Given the description of an element on the screen output the (x, y) to click on. 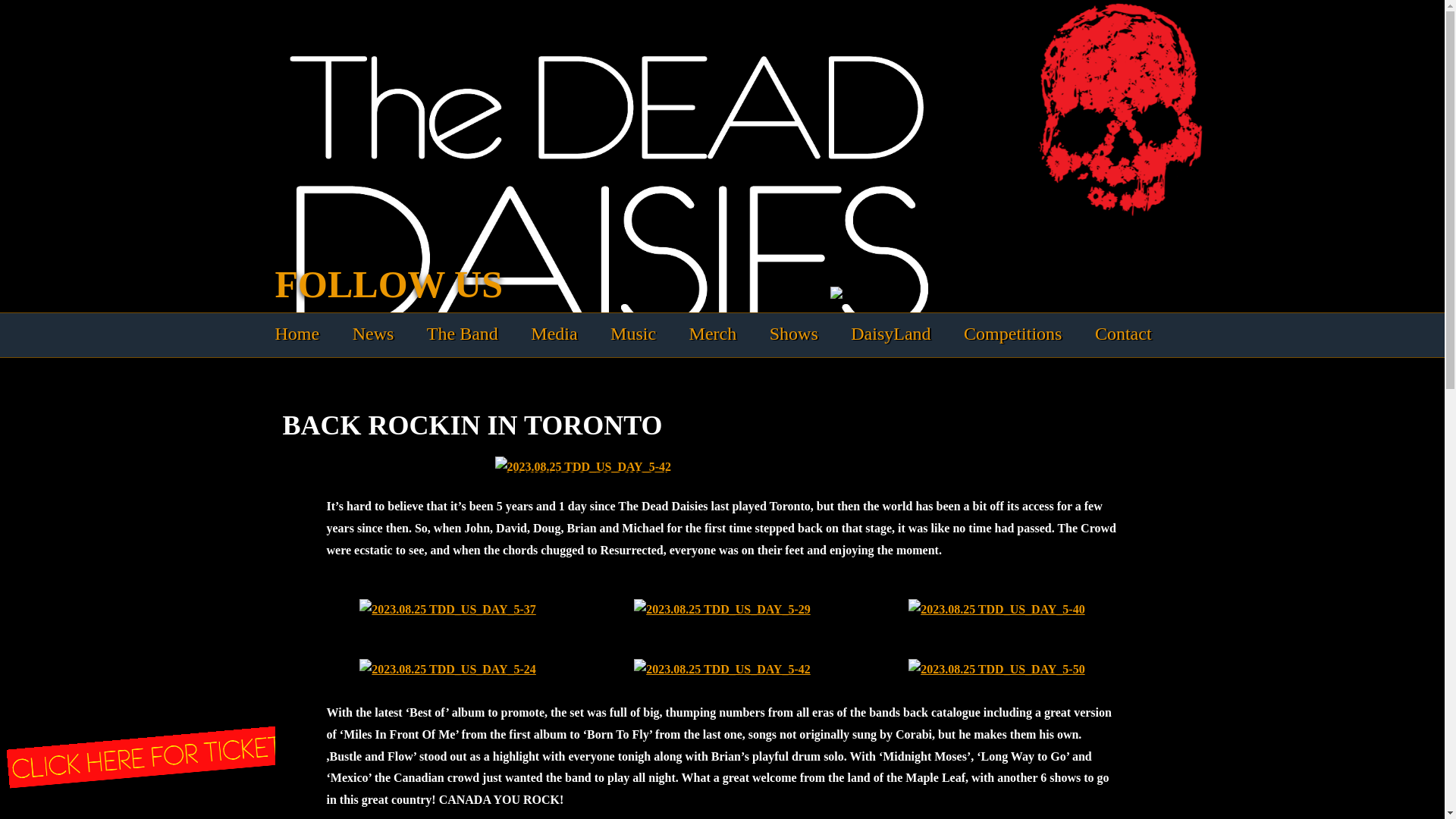
Spotify (525, 284)
The Band (461, 333)
Instagram (696, 284)
Facebook (559, 284)
Home (296, 333)
News (373, 333)
Twitter (593, 284)
Soundcloud (627, 284)
Music (633, 333)
